Given the description of an element on the screen output the (x, y) to click on. 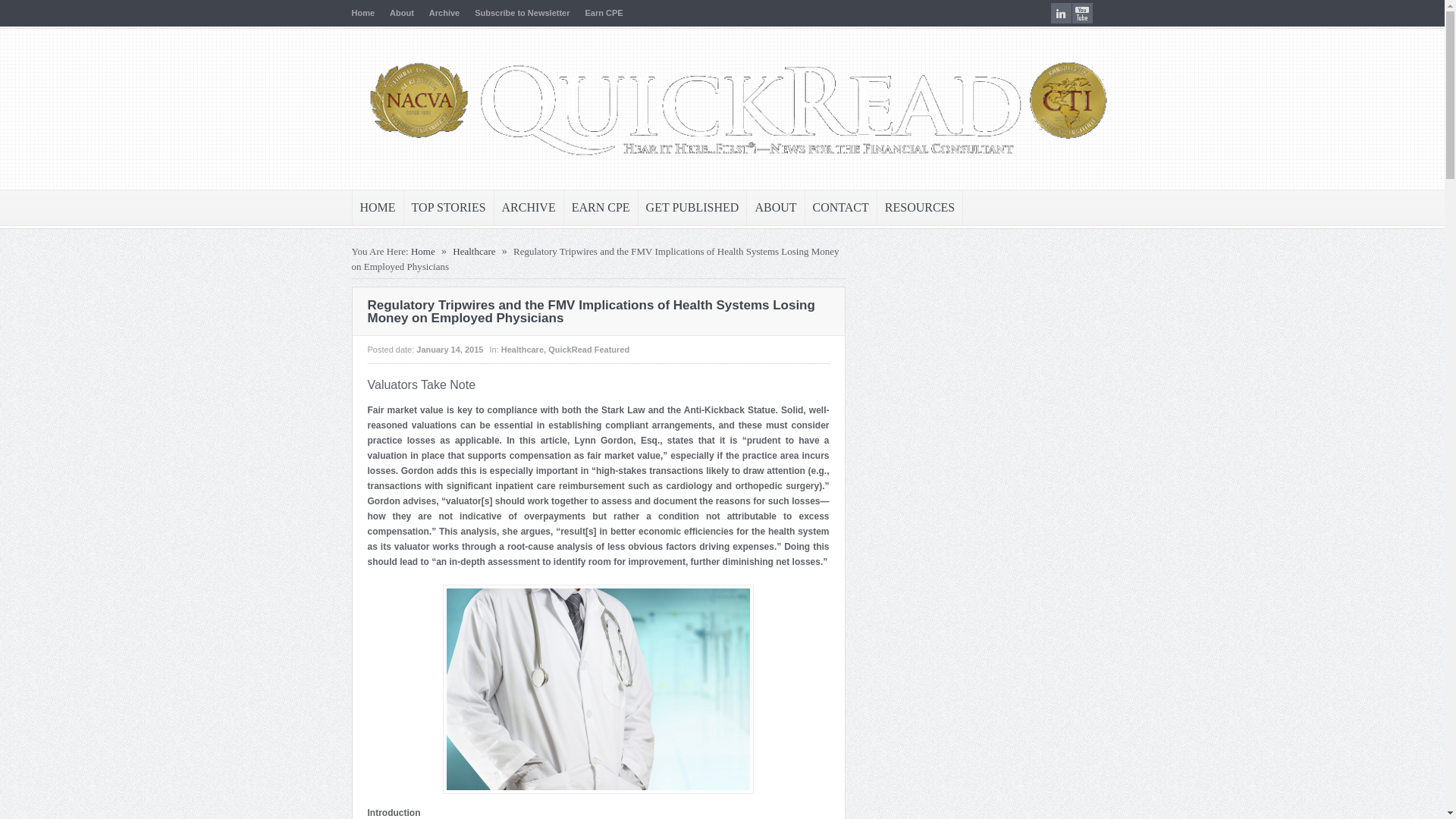
CONTACT (840, 207)
RESOURCES (919, 207)
ABOUT (774, 207)
Archive (444, 12)
youtube (1082, 13)
EARN CPE (600, 207)
Home (422, 251)
HOME (377, 207)
TOP STORIES (448, 207)
GET PUBLISHED (692, 207)
ARCHIVE (529, 207)
Subscribe to Newsletter (521, 12)
About (401, 12)
LinkedIn (1061, 13)
Earn CPE (604, 12)
